Given the description of an element on the screen output the (x, y) to click on. 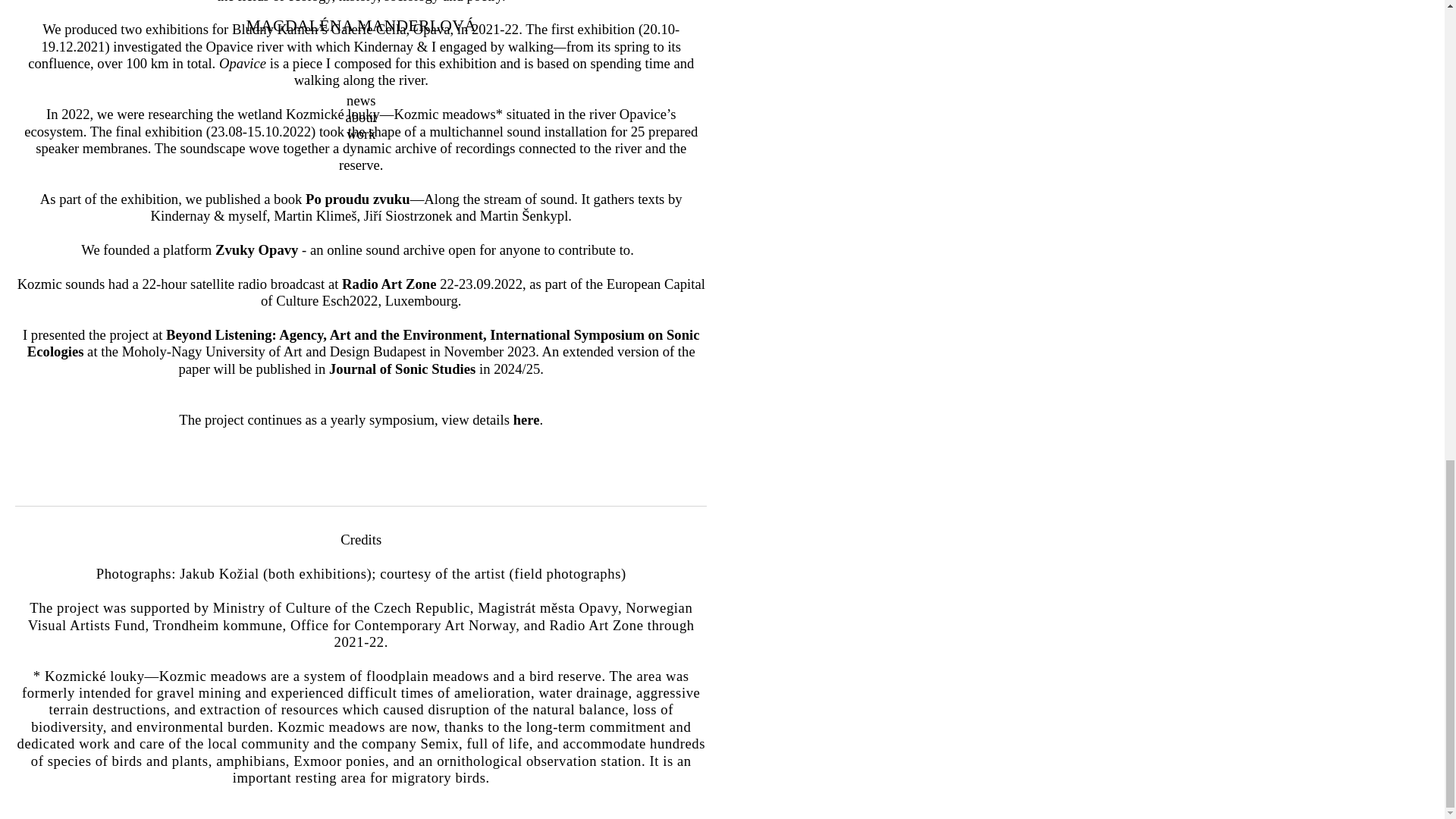
Radio Art Zone (388, 283)
Zvuky Opavy (256, 249)
here (526, 419)
